Given the description of an element on the screen output the (x, y) to click on. 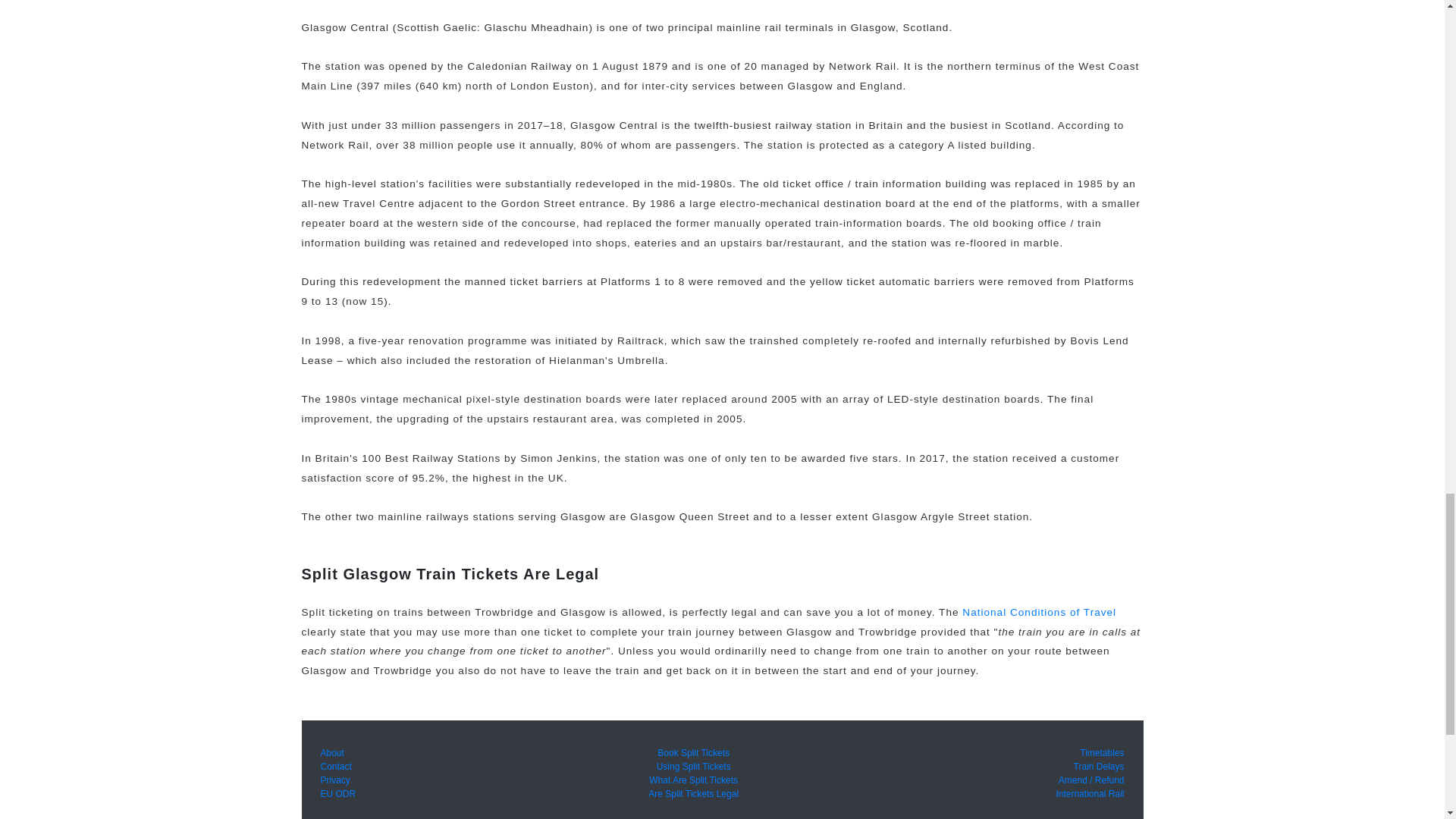
EU ODR (337, 793)
Timetables (1102, 752)
Train Delays (1099, 766)
National Conditions of Travel (1039, 612)
Privacy (334, 779)
Are Split Tickets Legal (692, 793)
International Rail (1089, 793)
Book Split Tickets (693, 752)
Using Split Tickets (693, 766)
About (331, 752)
What Are Split Tickets (693, 779)
Contact (335, 766)
